Given the description of an element on the screen output the (x, y) to click on. 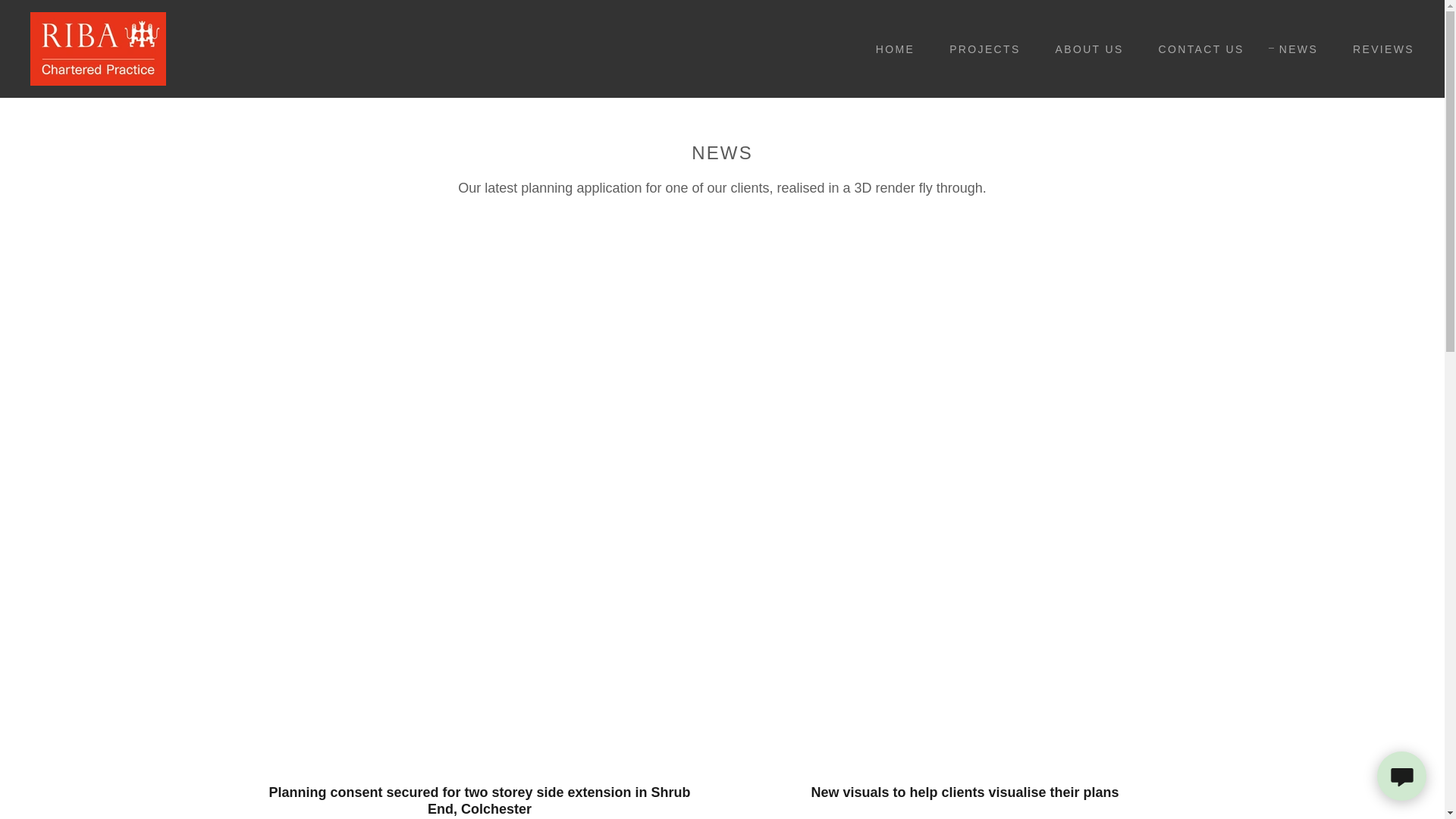
NEWS (1292, 48)
ABOUT US (1084, 48)
REVIEWS (1378, 48)
HOME (889, 48)
PROJECTS (979, 48)
CONTACT US (1195, 48)
